Given the description of an element on the screen output the (x, y) to click on. 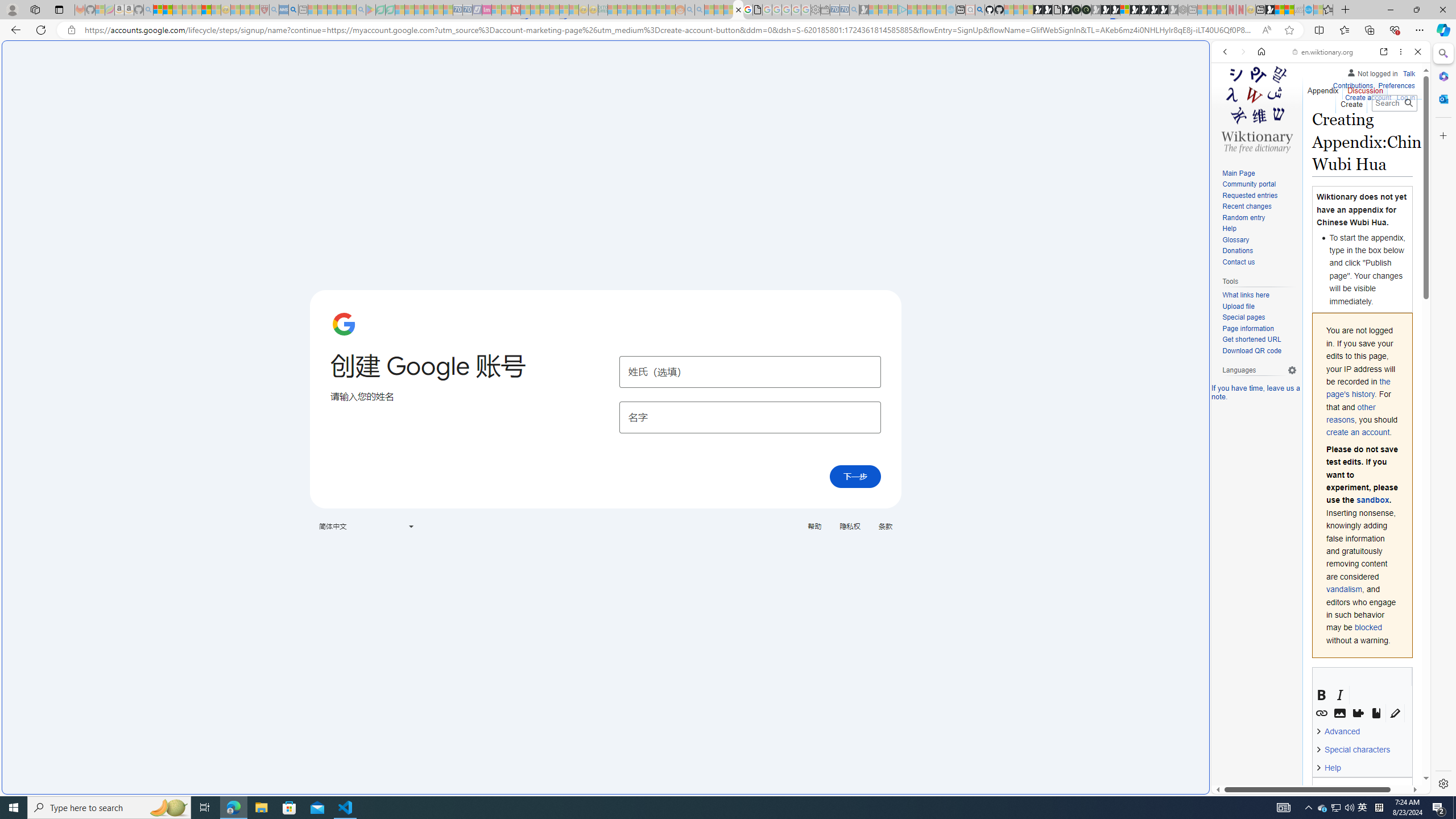
Community portal (1248, 184)
Page information (1259, 328)
